Given the description of an element on the screen output the (x, y) to click on. 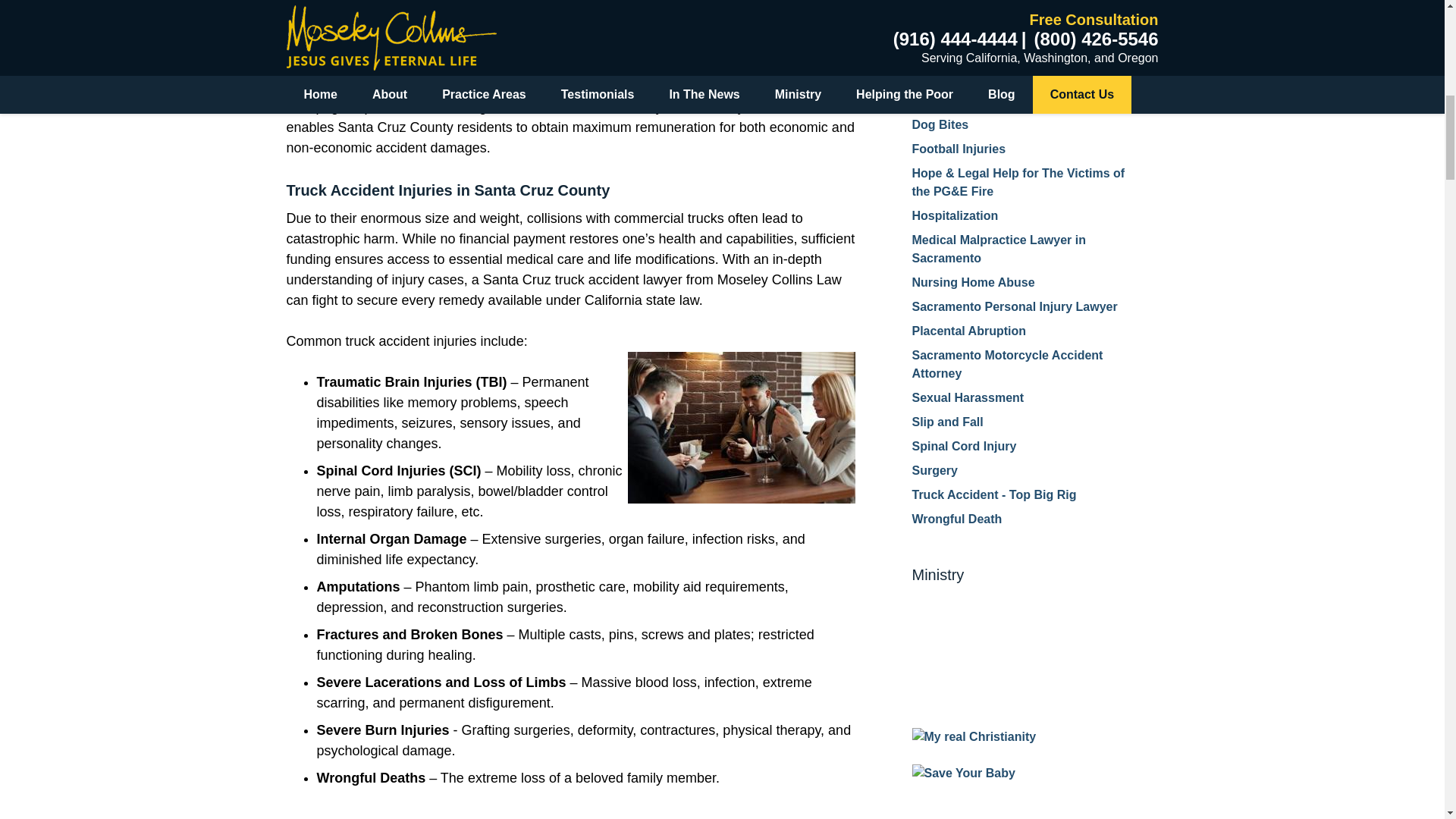
Brain Injury (944, 9)
Sacramento Car Accident Lawyer - Top Auto Crash Attorneys (1023, 66)
Sacramento Motorcycle Accident Attorney (1006, 364)
Nursing Home Abuse (972, 282)
Placental Abruption (968, 330)
Sacramento Personal Injury Lawyer (1013, 306)
Children's Medical Malpractice (999, 100)
Hospitalization (954, 215)
Dog Bites (939, 124)
Football Injuries (958, 148)
California Talcum Powder Lawyers (1011, 33)
Medical Malpractice Lawyer in Sacramento (997, 248)
